Given the description of an element on the screen output the (x, y) to click on. 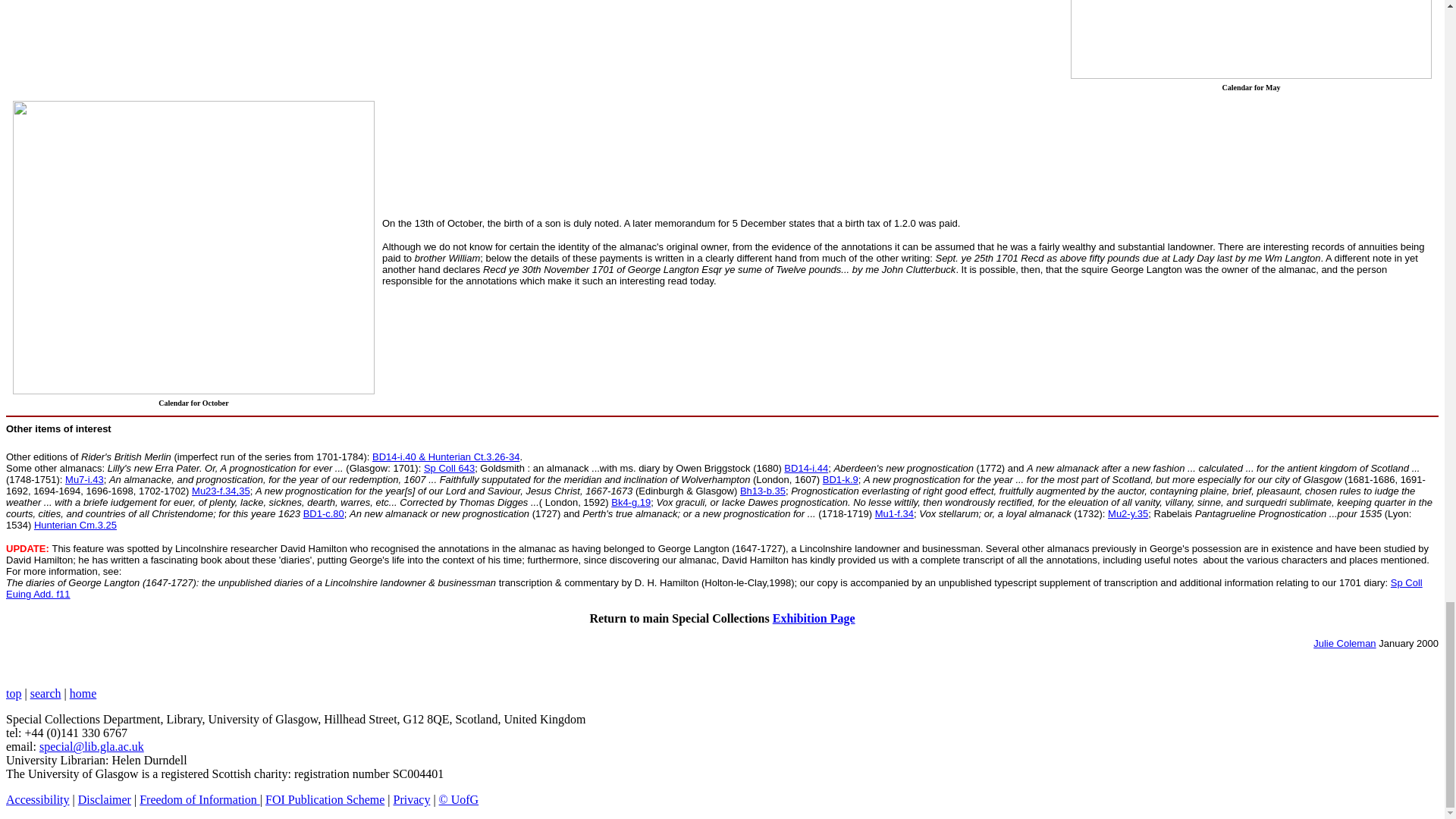
Mu2-y.35 (1128, 513)
FOI Publication Scheme (324, 799)
Sp Coll 643 (448, 468)
Bk4-g.19 (630, 501)
Sp Coll Euing Add. f11 (713, 588)
Privacy (411, 799)
Julie Coleman (1344, 643)
Accessibility (37, 799)
BD14-i.44 (806, 468)
home (83, 693)
